Given the description of an element on the screen output the (x, y) to click on. 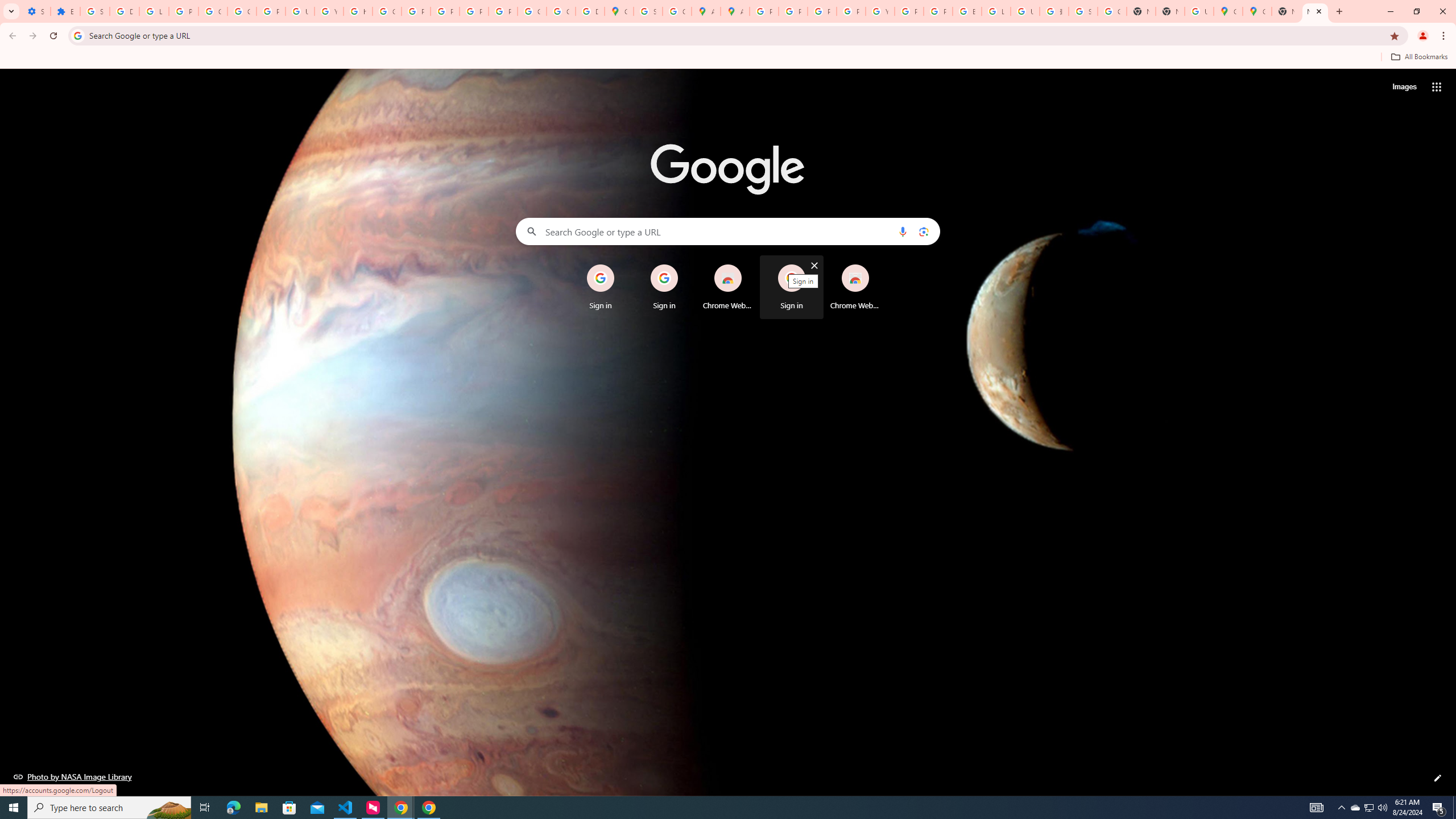
Privacy Help Center - Policies Help (415, 11)
Chrome Web Store (855, 287)
Photo by NASA Image Library (72, 776)
Create your Google Account (677, 11)
